Given the description of an element on the screen output the (x, y) to click on. 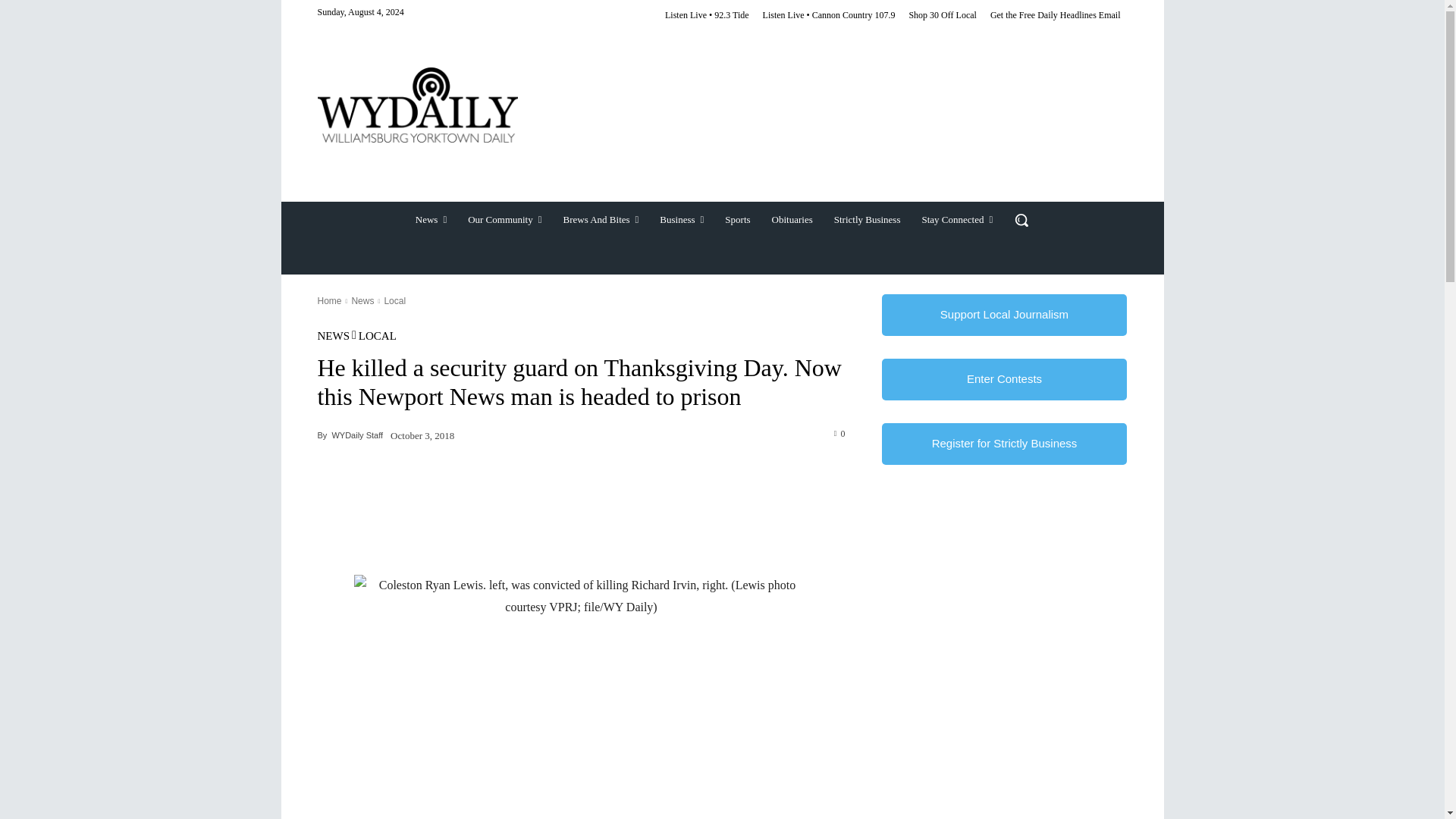
3rd party ad content (832, 130)
Shop 30 Off Local (941, 15)
News (430, 219)
Get the Free Daily Headlines Email (1055, 15)
View all posts in News (362, 300)
View all posts in Local (395, 300)
